Given the description of an element on the screen output the (x, y) to click on. 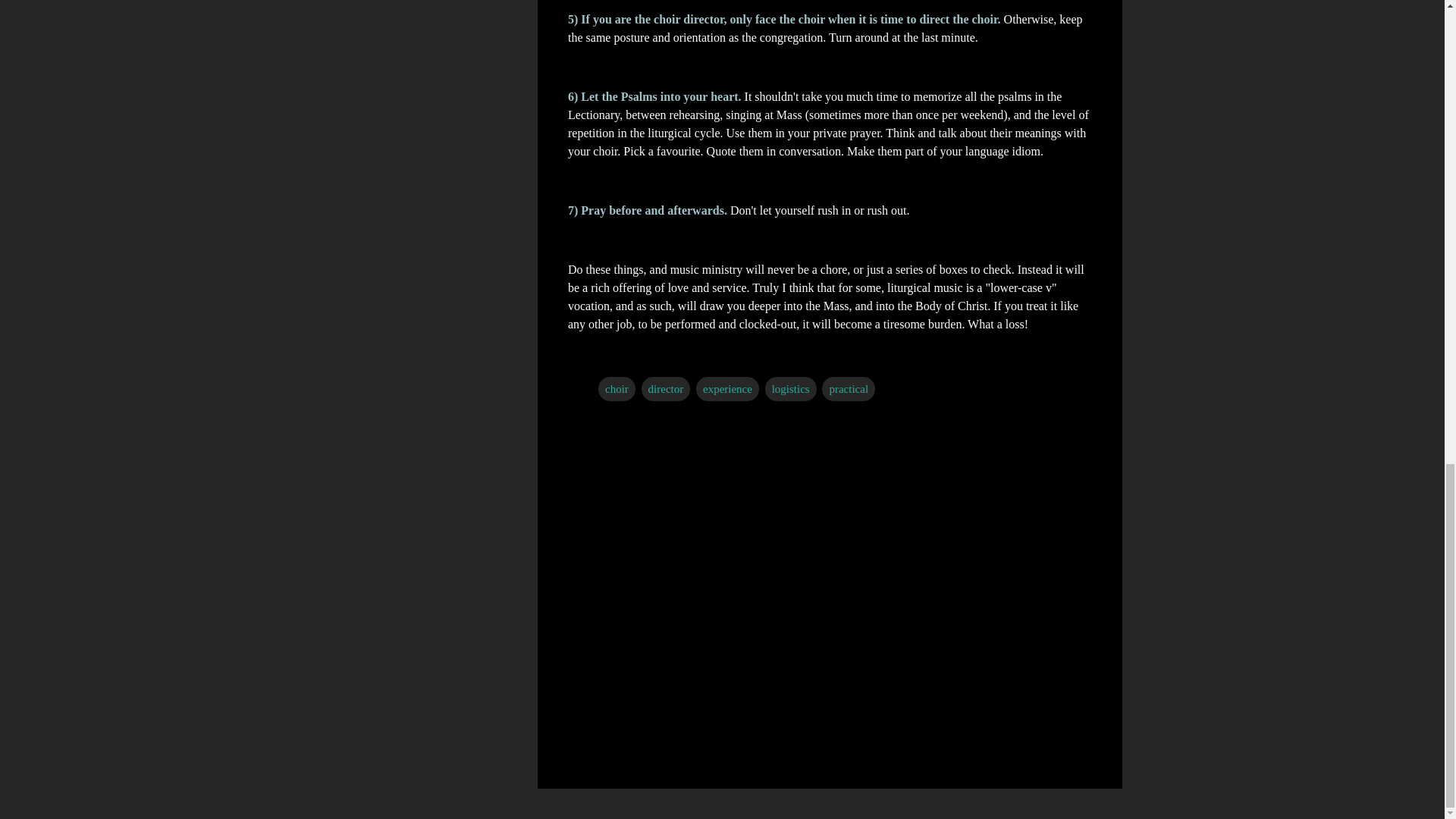
logistics (790, 387)
choir (616, 387)
director (666, 387)
practical (848, 387)
experience (726, 387)
